Given the description of an element on the screen output the (x, y) to click on. 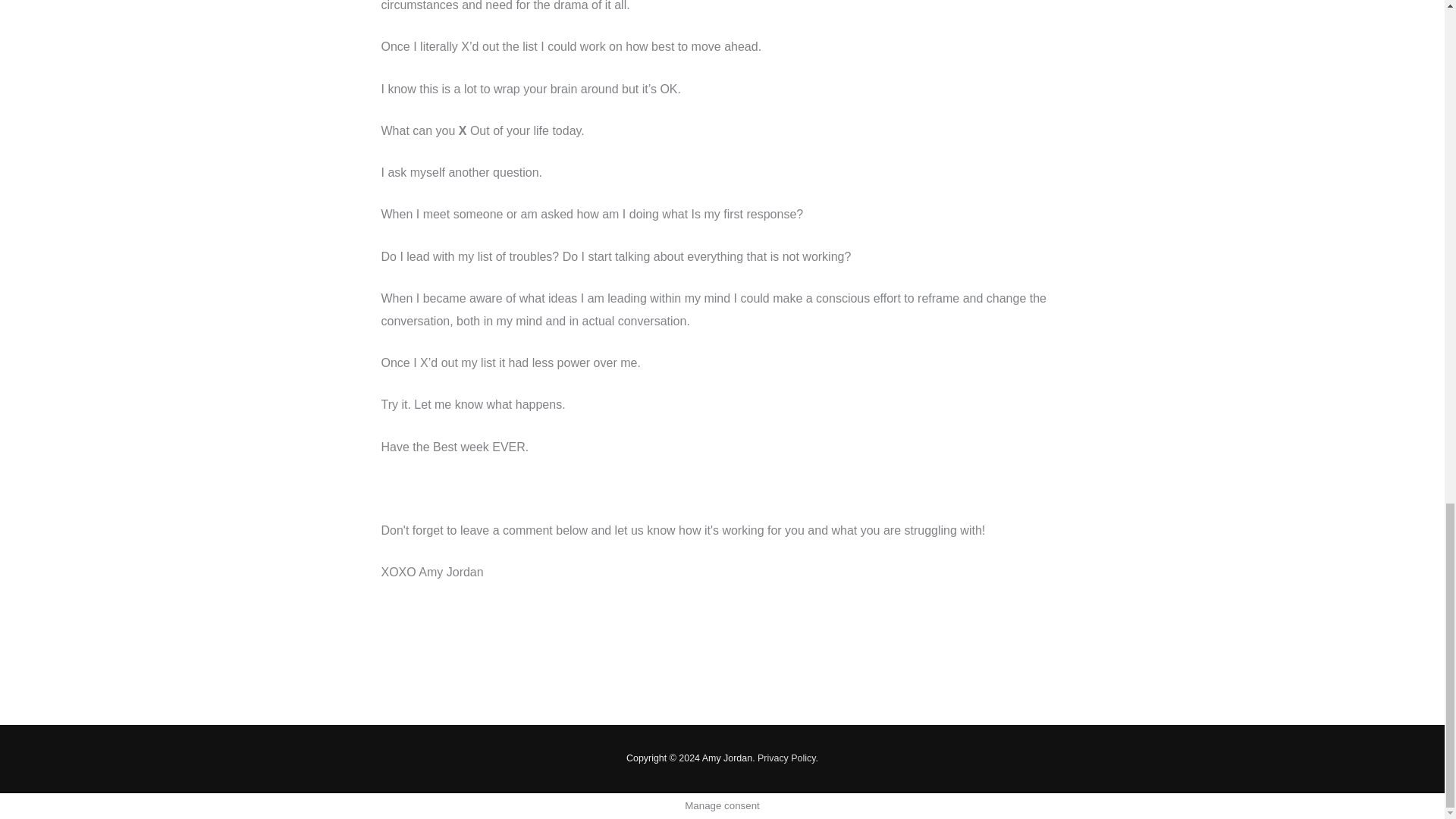
Privacy Policy. (787, 757)
